Given the description of an element on the screen output the (x, y) to click on. 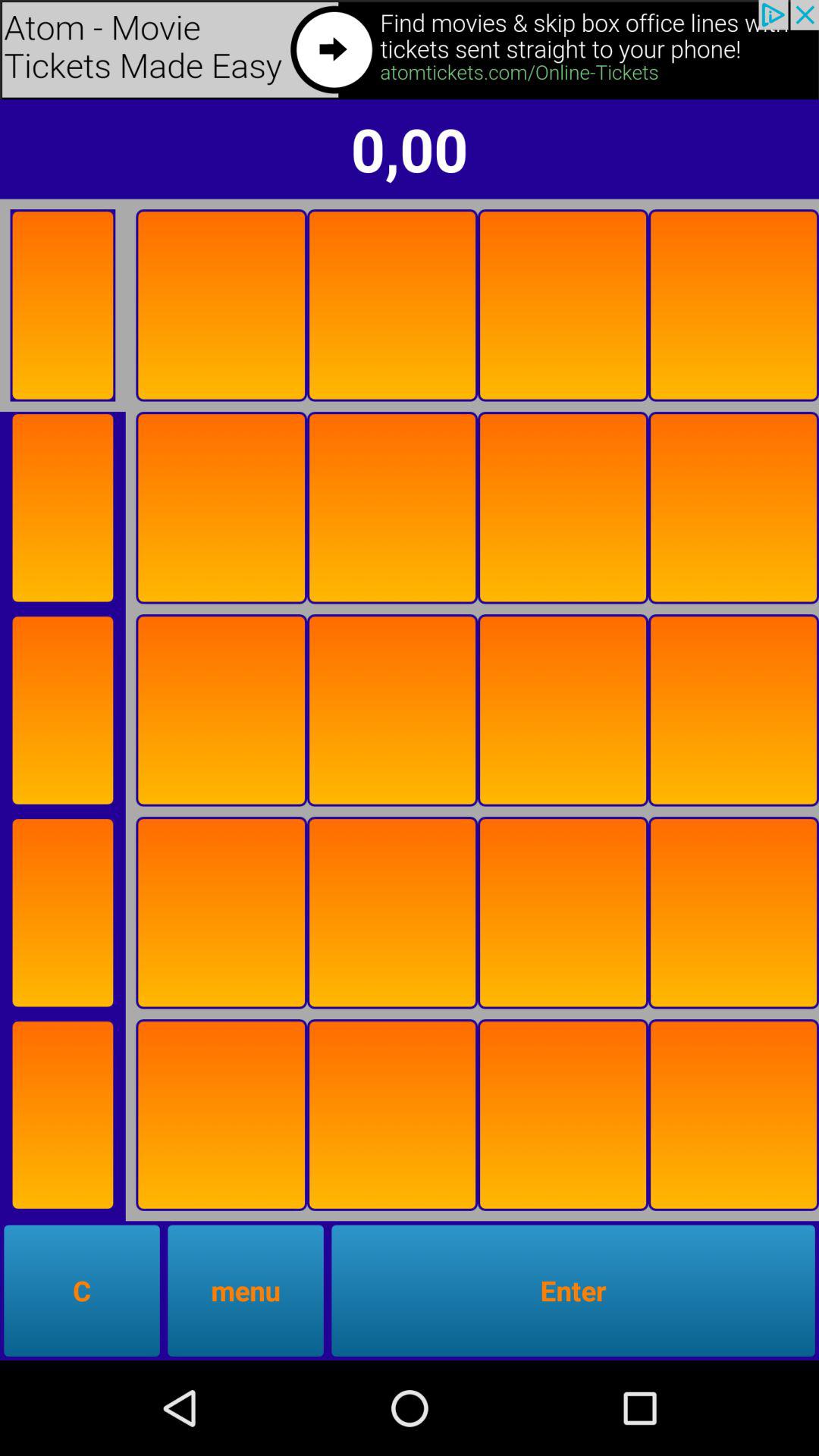
go to advertisement (62, 1114)
